Given the description of an element on the screen output the (x, y) to click on. 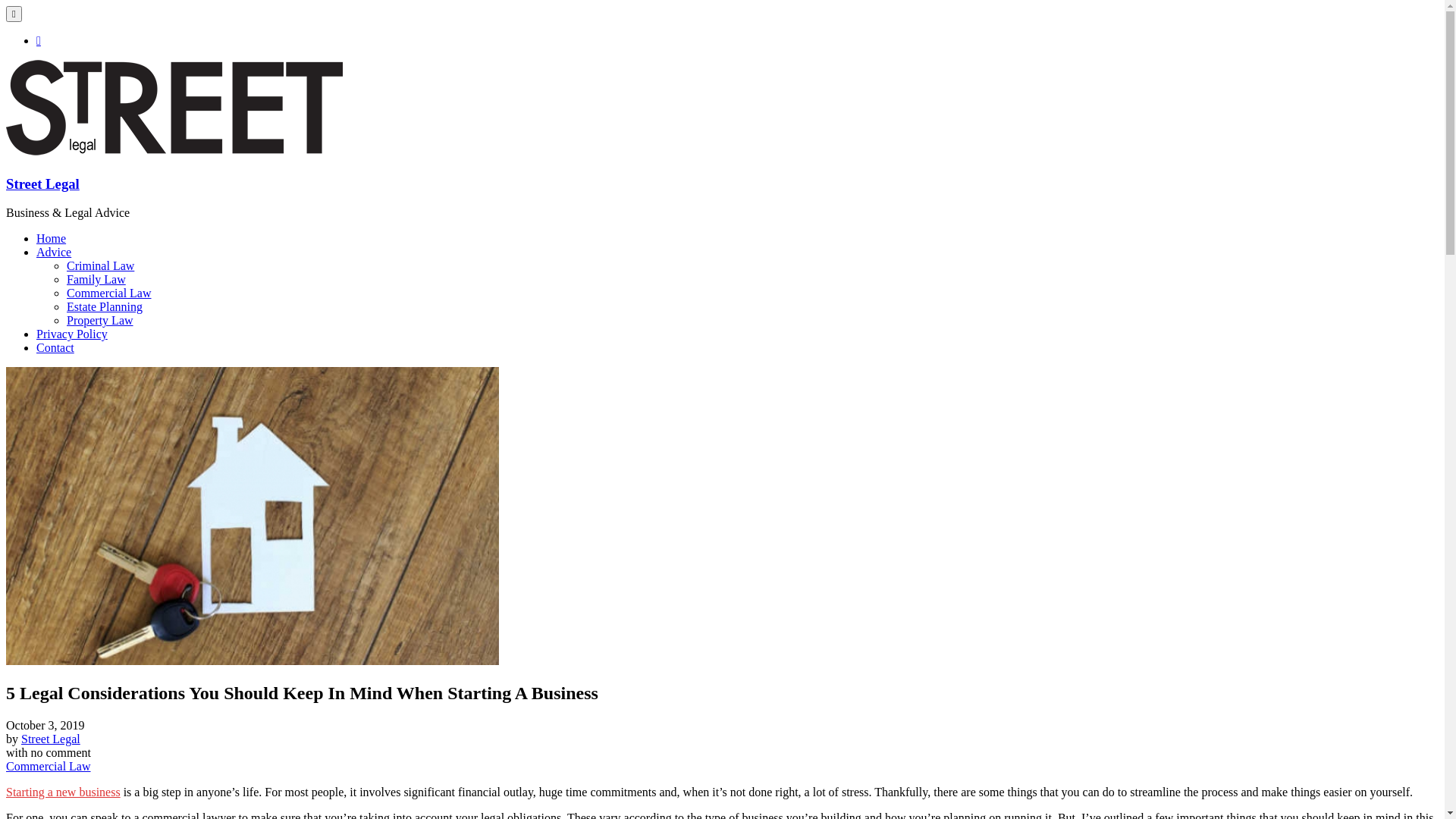
Street Legal Element type: text (50, 738)
Criminal Law Element type: text (100, 265)
Commercial Law Element type: text (108, 292)
Street Legal Element type: text (42, 183)
Property Law Element type: text (99, 319)
Commercial Law Element type: text (48, 765)
Starting a new business Element type: text (63, 791)
Family Law Element type: text (95, 279)
Home Element type: text (50, 238)
Estate Planning Element type: text (104, 306)
Contact Element type: text (55, 347)
Advice Element type: text (53, 251)
Privacy Policy Element type: text (71, 333)
